Given the description of an element on the screen output the (x, y) to click on. 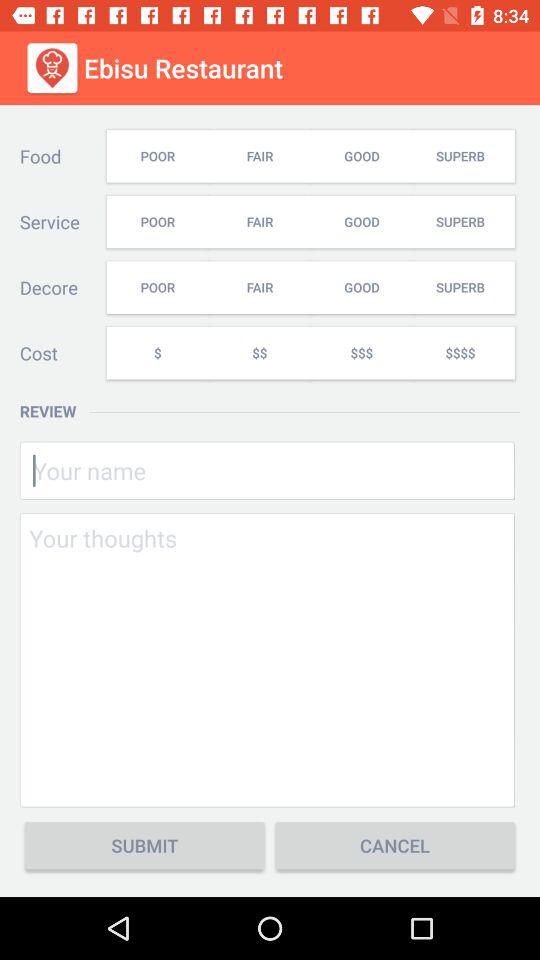
click icon next to the $$$$ (361, 352)
